Given the description of an element on the screen output the (x, y) to click on. 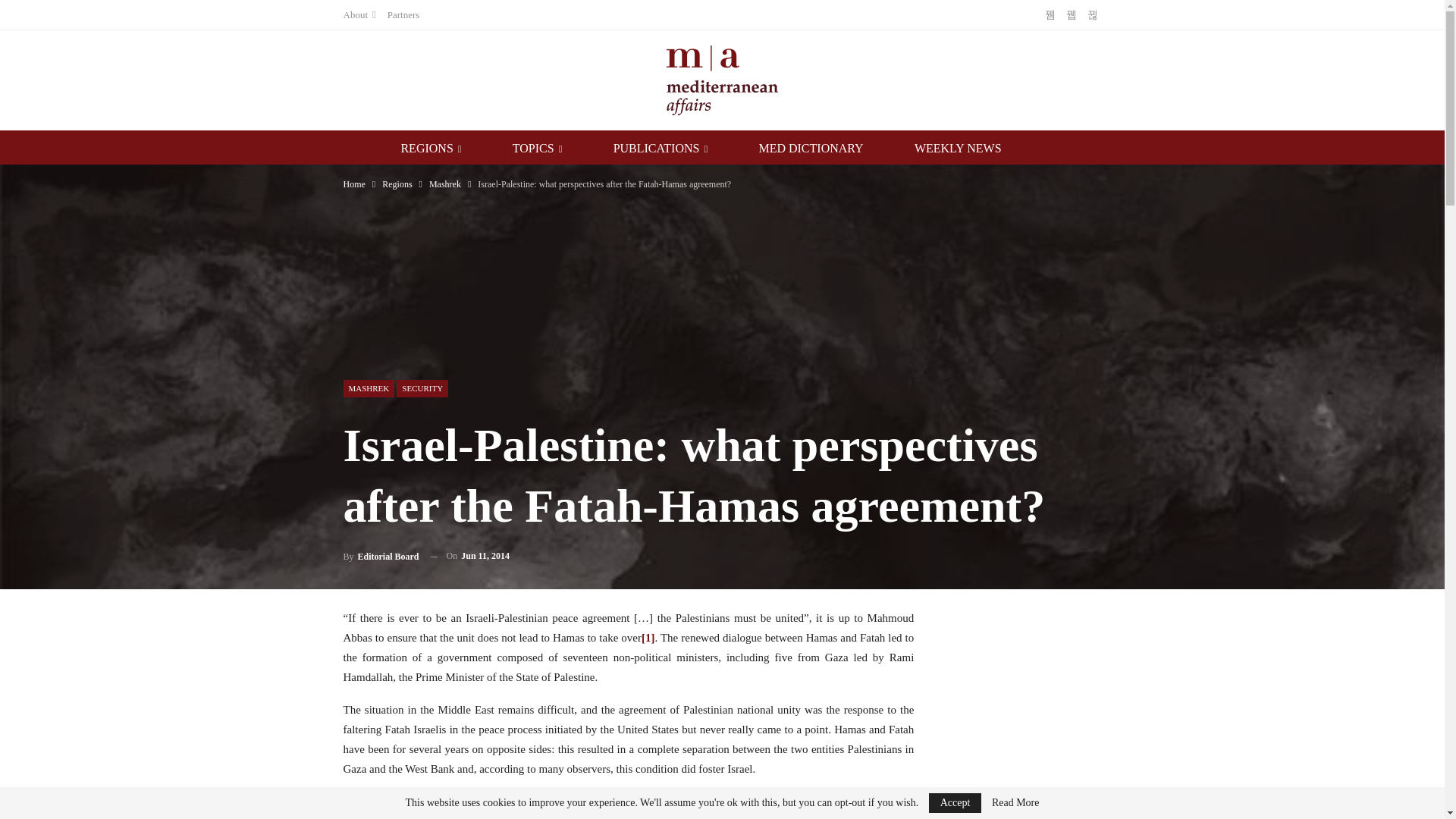
PUBLICATIONS (681, 148)
Mashrek (445, 184)
WEEKLY NEWS (978, 148)
SECURITY (422, 388)
REGIONS (451, 148)
MASHREK (368, 388)
Browse Author Articles (380, 556)
By Editorial Board (380, 556)
Home (353, 184)
Regions (396, 184)
